Given the description of an element on the screen output the (x, y) to click on. 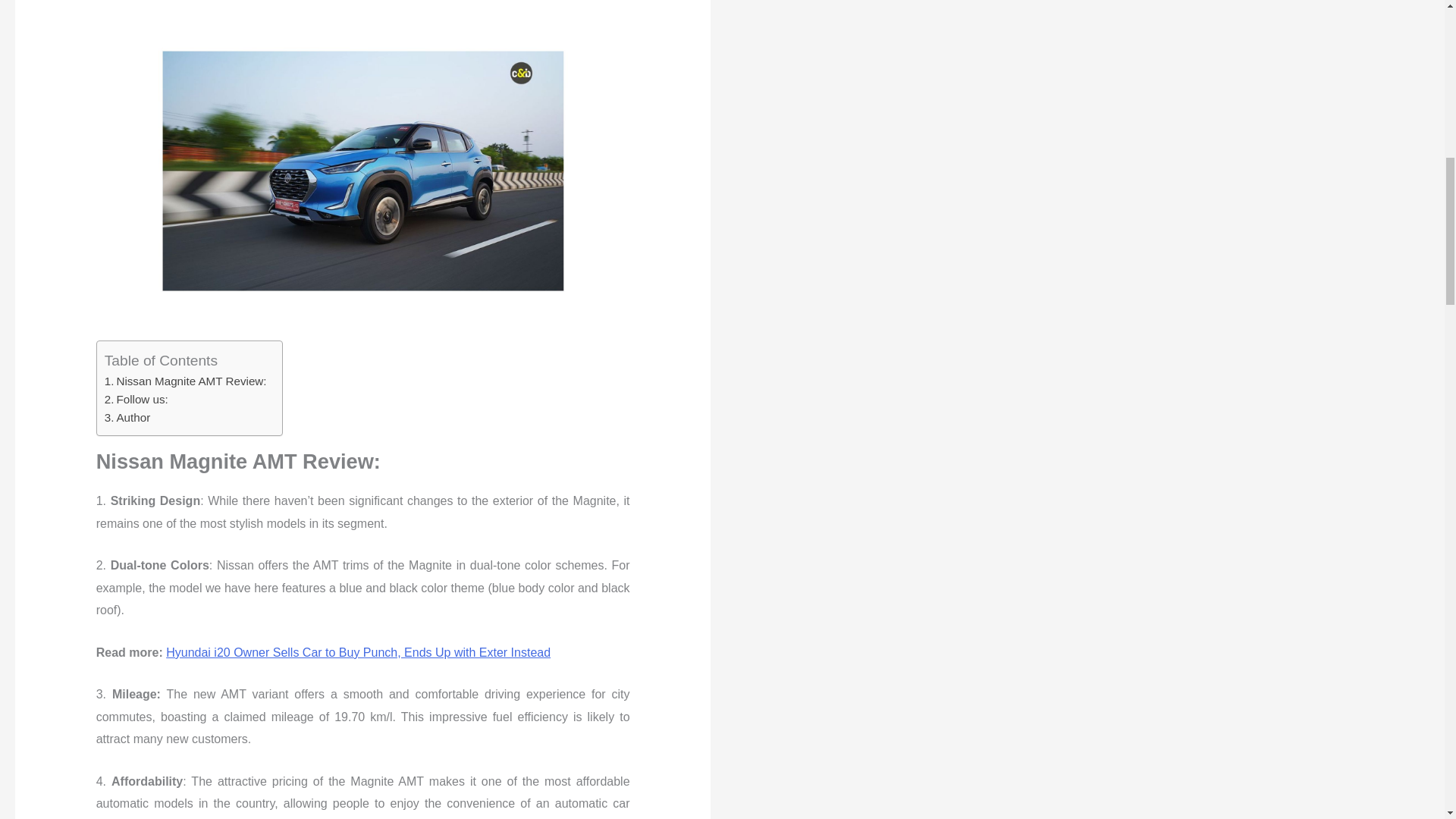
Author (126, 417)
Follow us: (136, 399)
Nissan Magnite AMT Review: (185, 381)
